Given the description of an element on the screen output the (x, y) to click on. 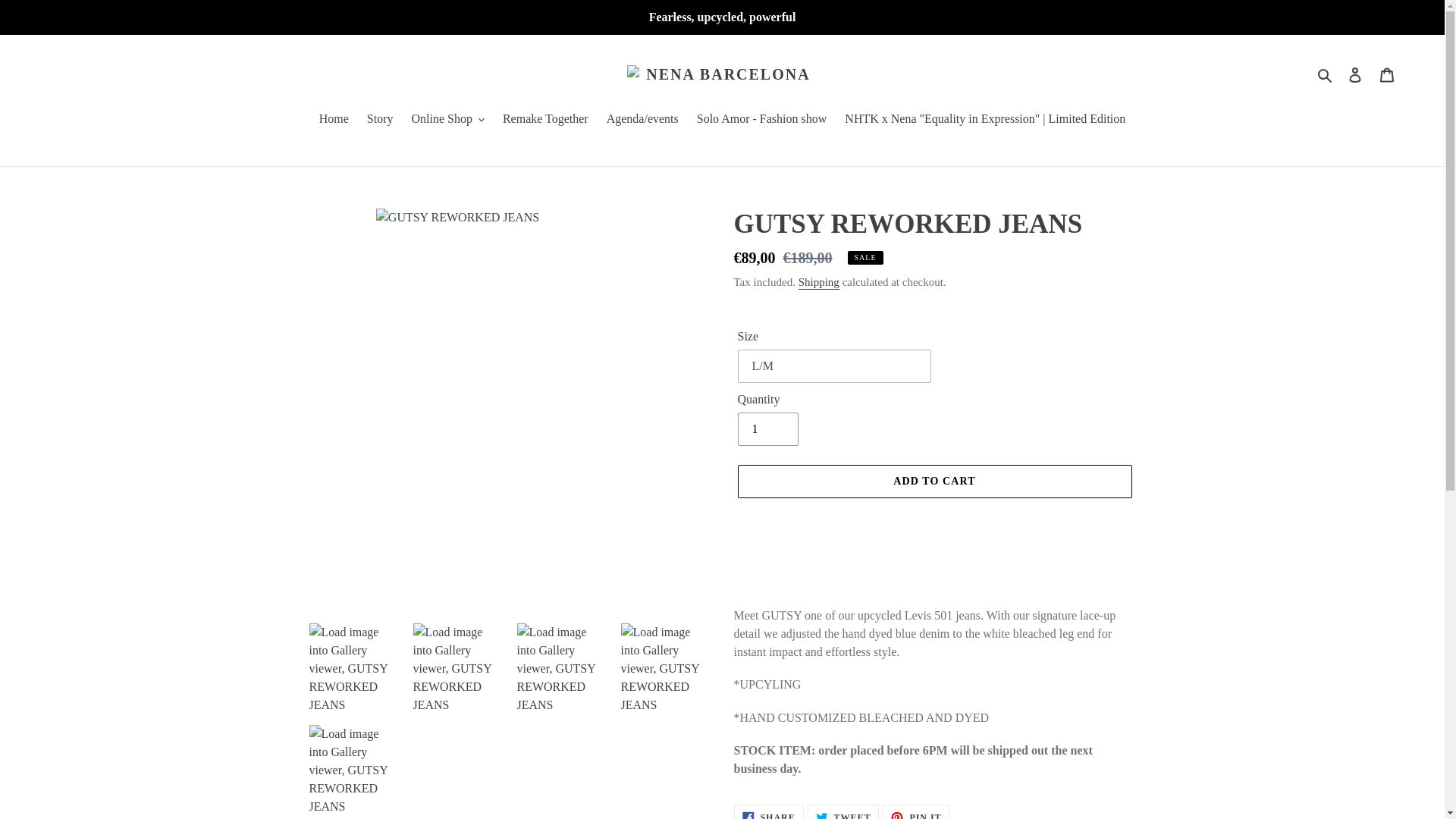
Home (333, 119)
Remake Together (545, 119)
Search (1326, 74)
Solo Amor - Fashion show (761, 119)
Log in (1355, 73)
Story (380, 119)
Cart (1387, 73)
1 (766, 428)
Online Shop (447, 119)
